Given the description of an element on the screen output the (x, y) to click on. 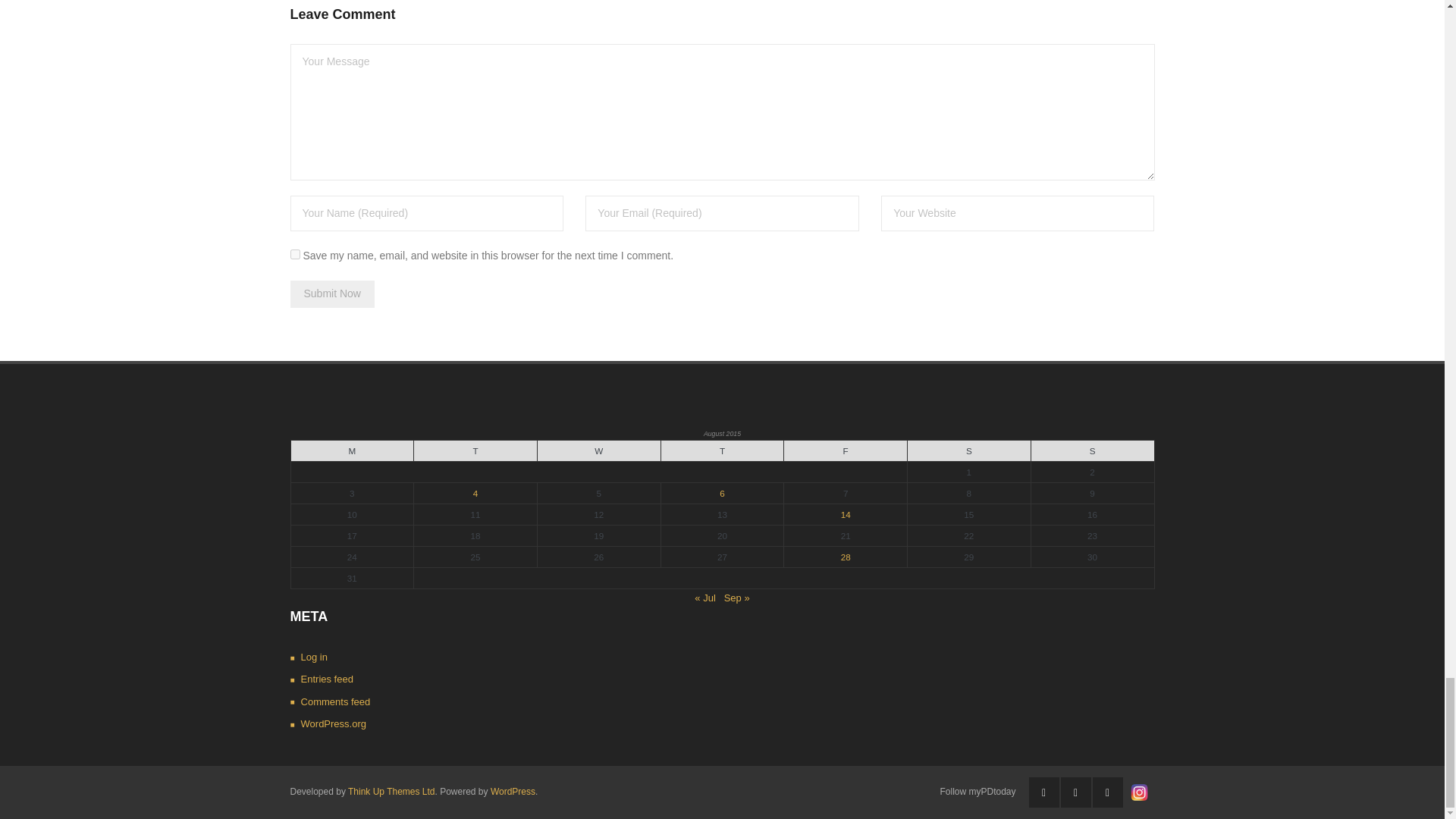
Monday (351, 450)
yes (294, 254)
Tuesday (475, 450)
Thursday (722, 450)
Submit Now (331, 293)
Wednesday (599, 450)
